Given the description of an element on the screen output the (x, y) to click on. 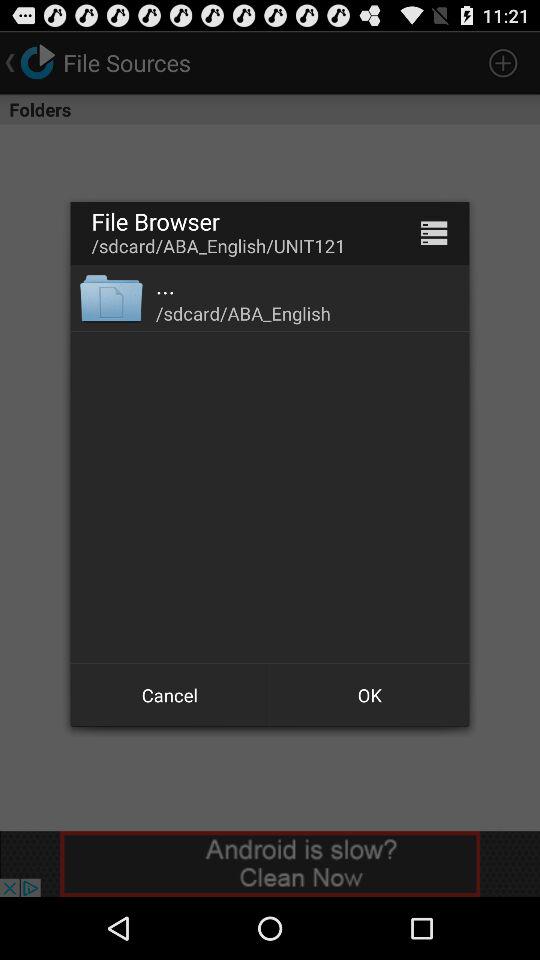
press the icon above the /sdcard/aba_english (165, 285)
